Given the description of an element on the screen output the (x, y) to click on. 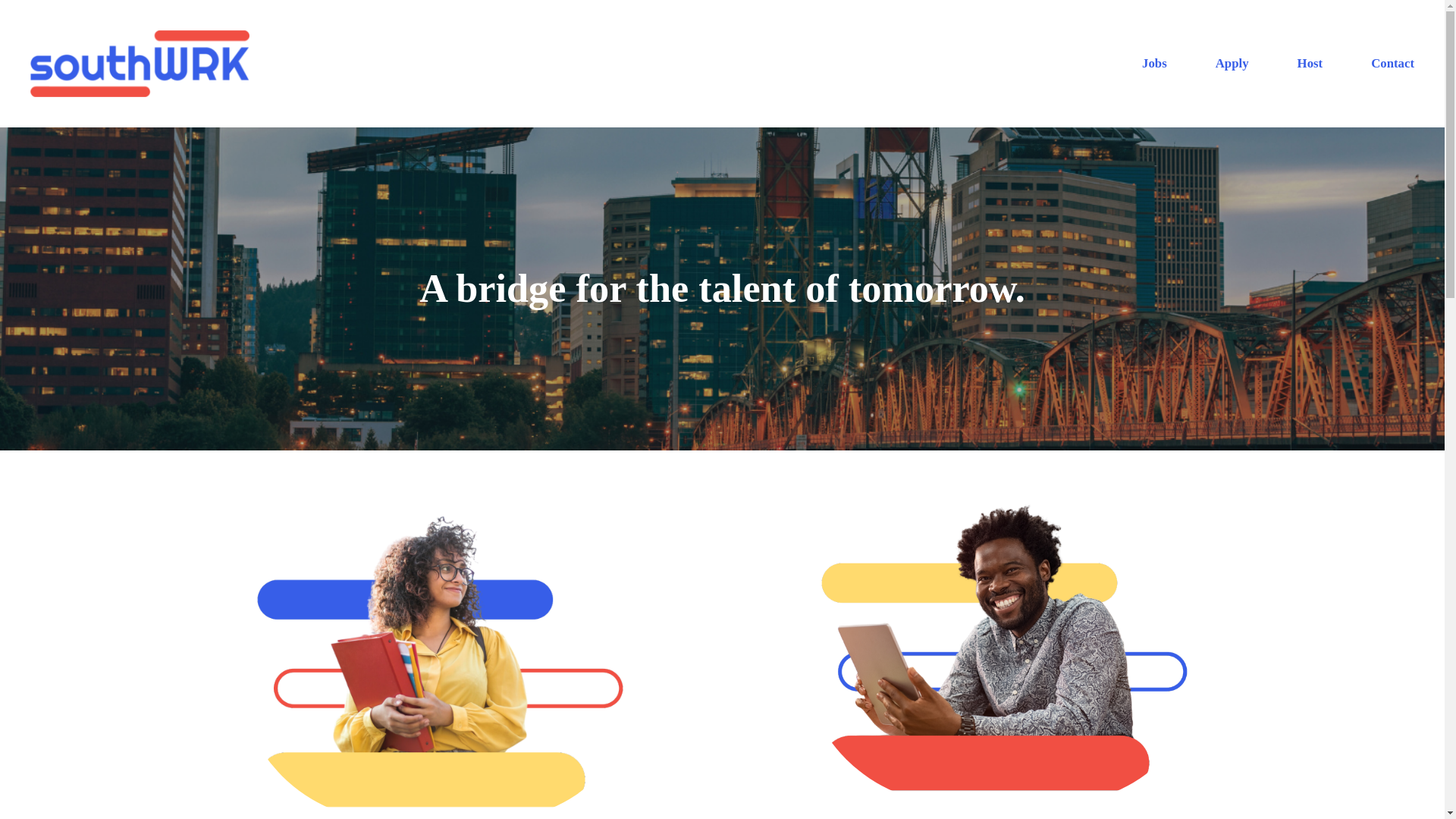
Jobs (1154, 63)
Apply (1232, 63)
Contact (1392, 63)
Host (1310, 63)
